Given the description of an element on the screen output the (x, y) to click on. 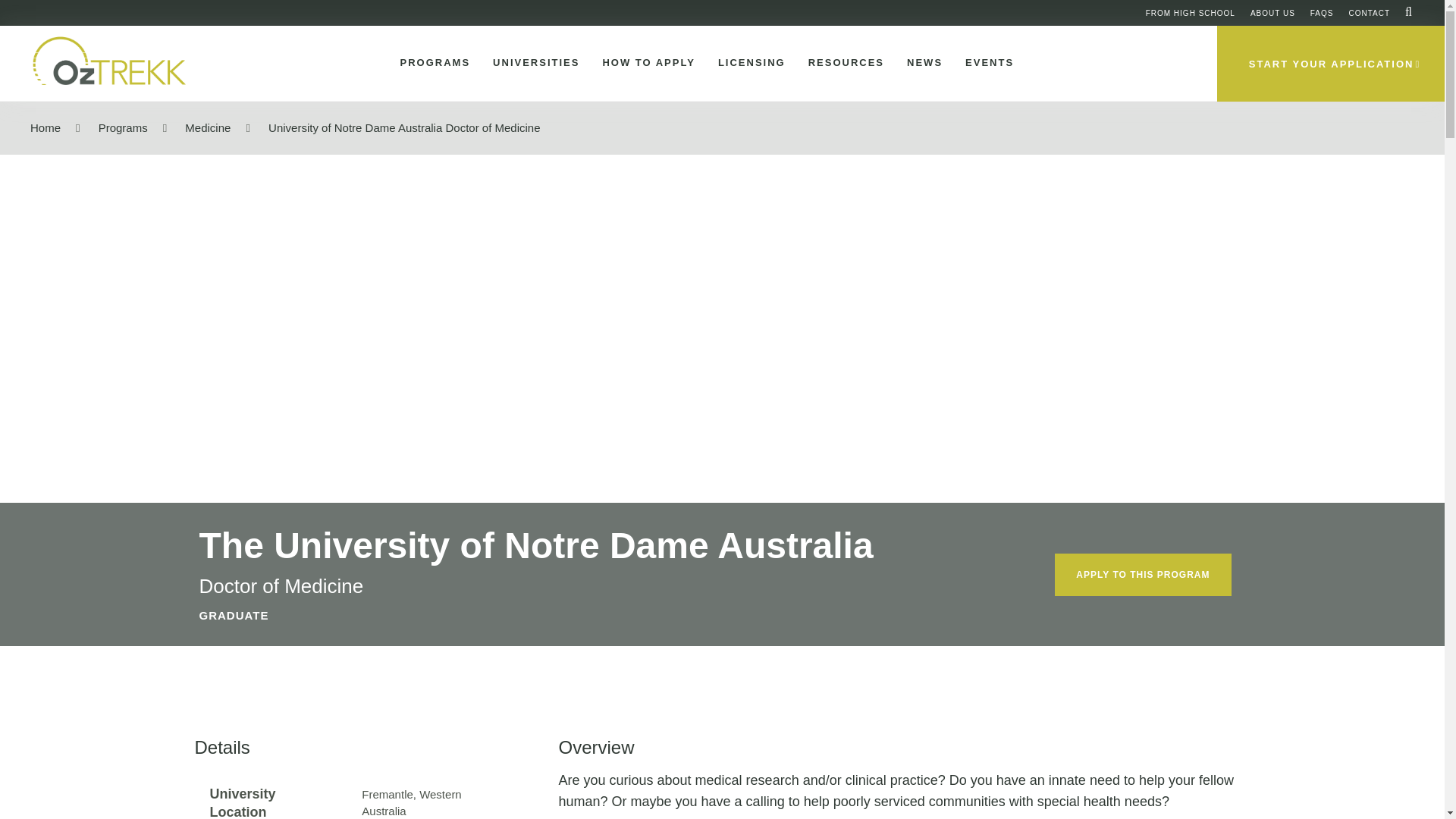
CONTACT (1369, 13)
FROM HIGH SCHOOL (1189, 13)
PROGRAMS (432, 63)
ABOUT US (1272, 13)
FAQS (1321, 13)
